Given the description of an element on the screen output the (x, y) to click on. 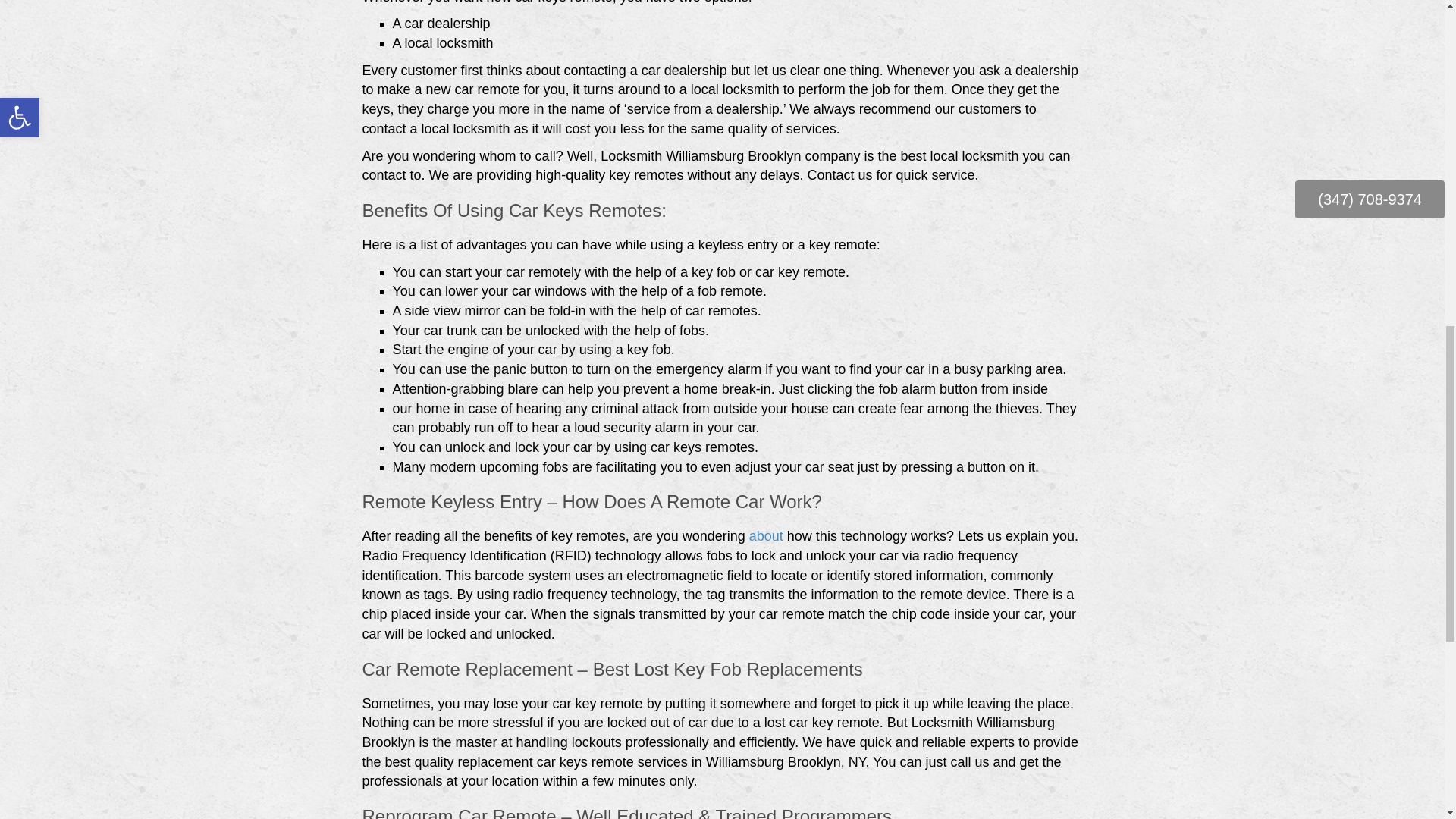
about (766, 535)
